Given the description of an element on the screen output the (x, y) to click on. 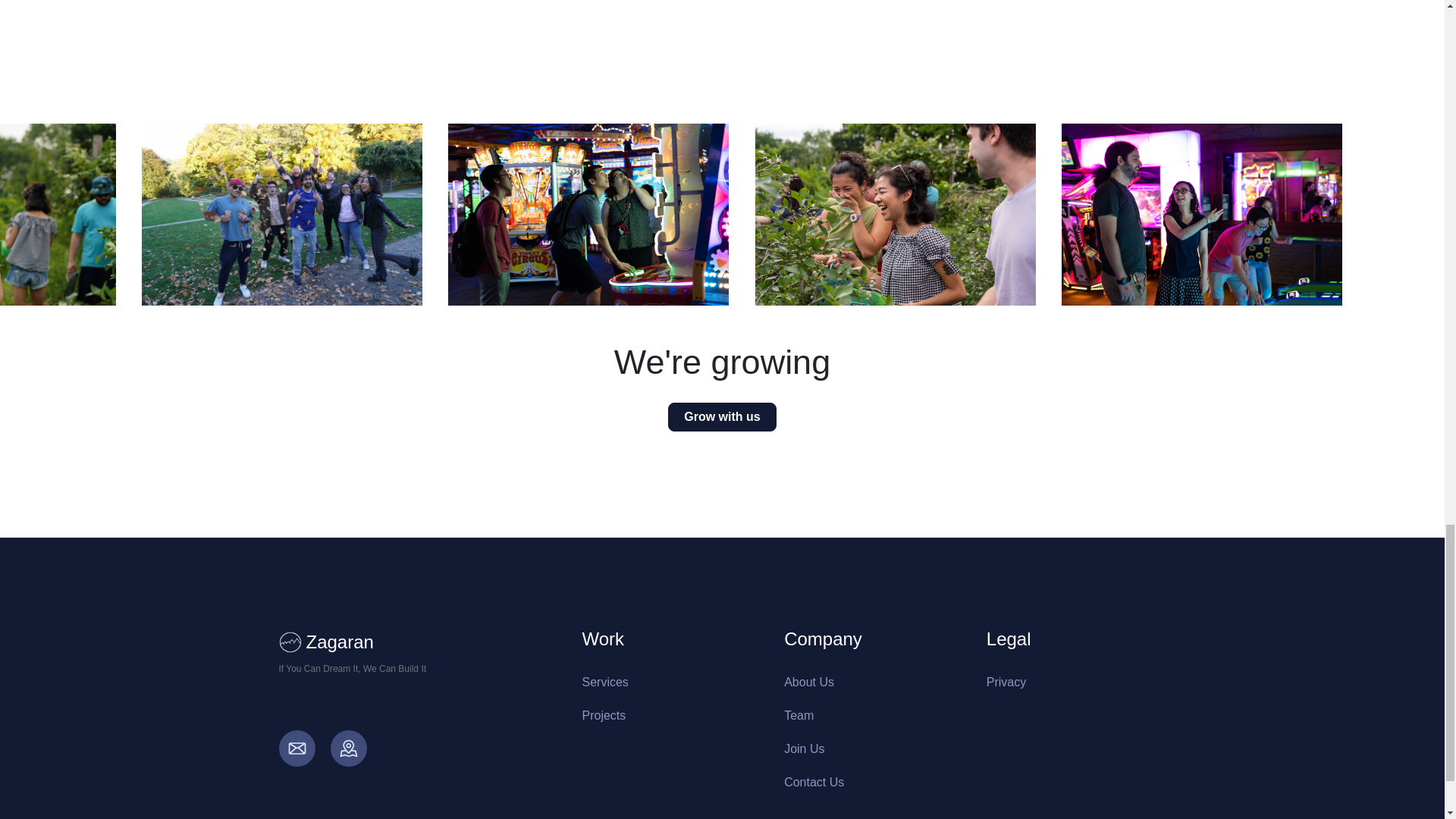
Services (605, 681)
Join Us (804, 748)
Zagaran (419, 642)
Privacy (1006, 681)
Team (798, 715)
About Us (809, 681)
Projects (604, 715)
Grow with us (722, 416)
Contact Us (814, 781)
